Given the description of an element on the screen output the (x, y) to click on. 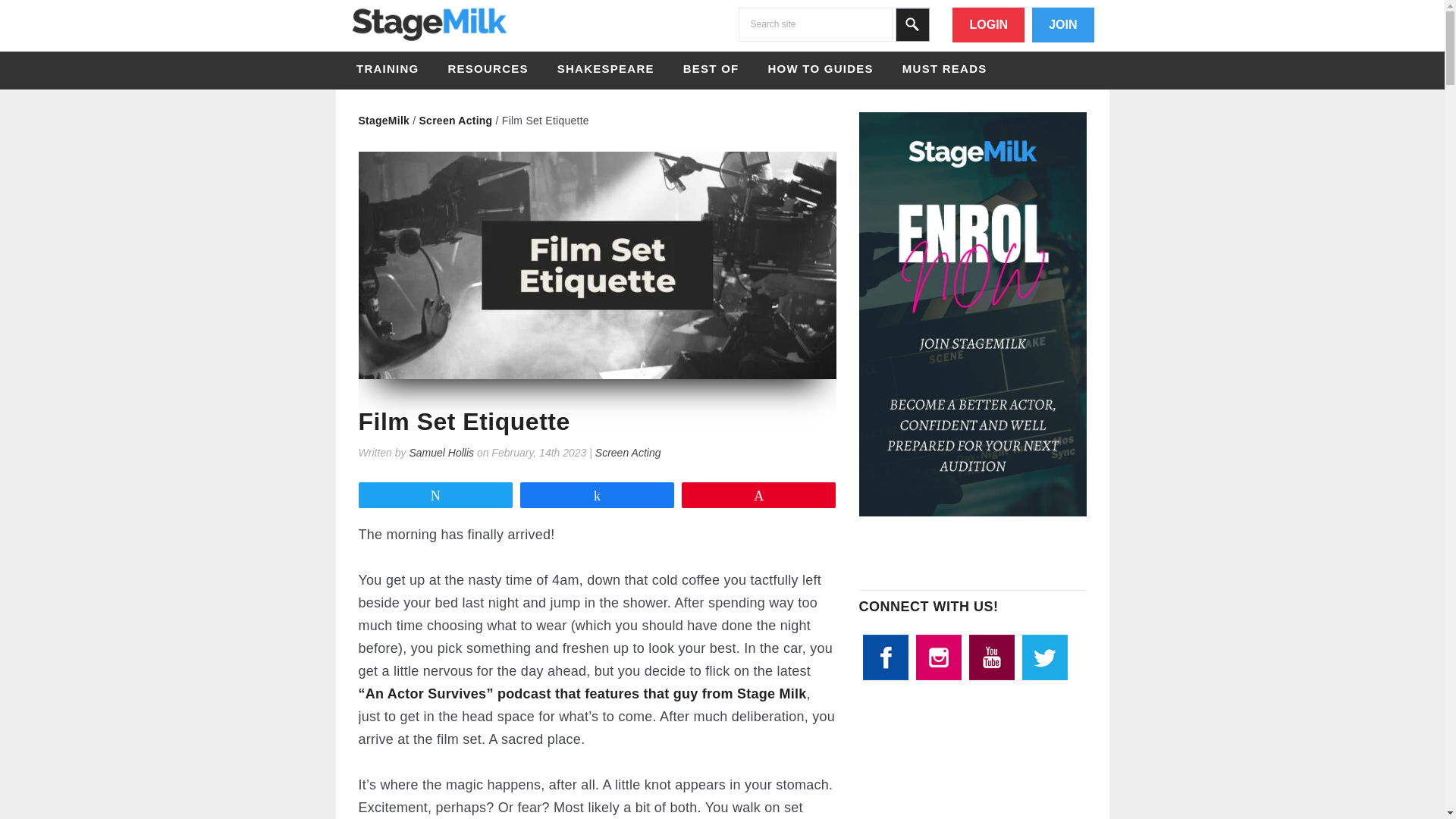
SHAKESPEARE (606, 68)
JOIN (1062, 24)
StageMilk (428, 41)
RESOURCES (487, 68)
BEST OF (711, 68)
LOGIN (988, 24)
TRAINING (387, 68)
Posts by Samuel Hollis (441, 452)
Search site (815, 24)
